Given the description of an element on the screen output the (x, y) to click on. 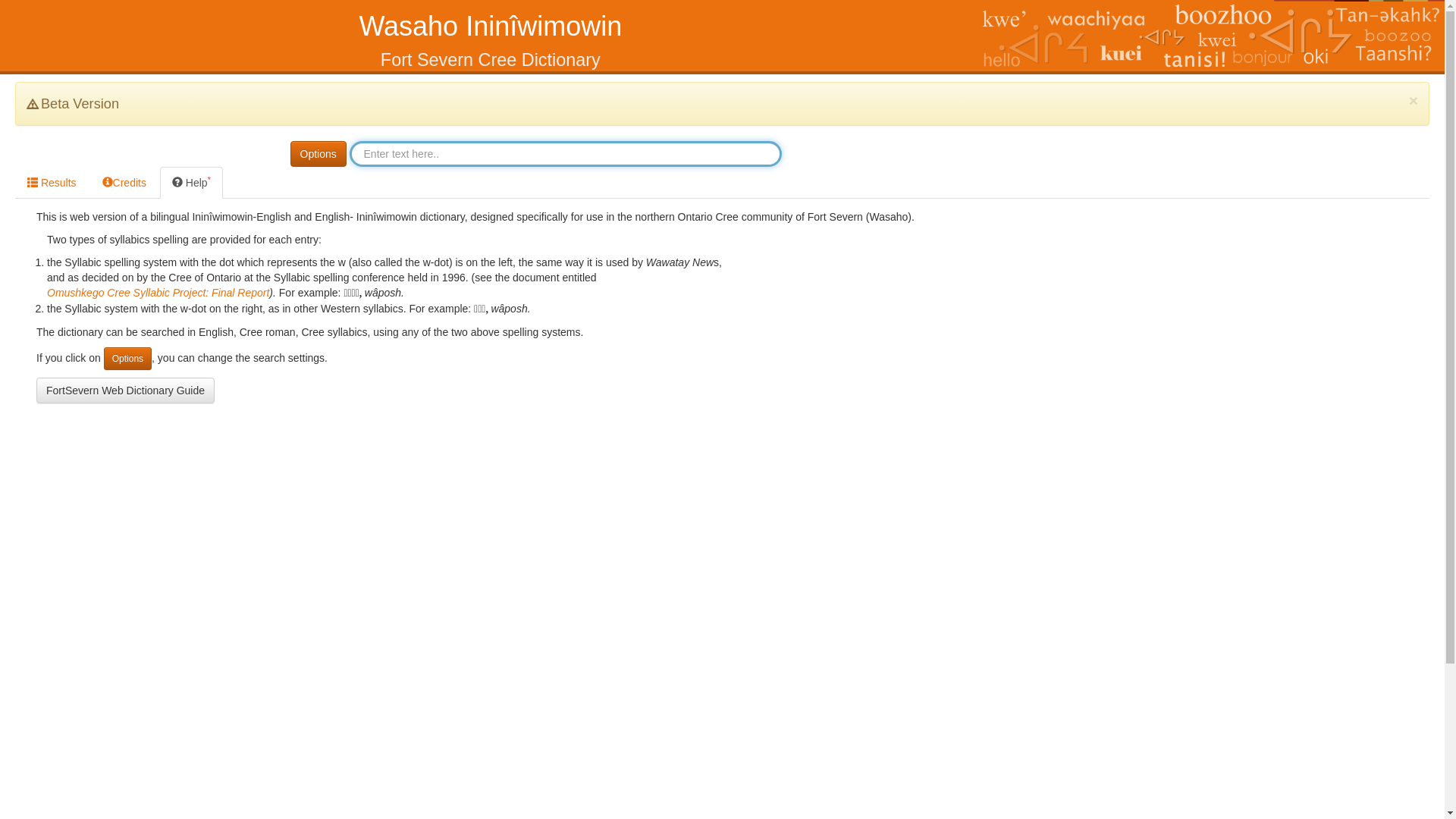
Options Element type: text (317, 153)
Results Element type: text (51, 182)
FortSevern Web Dictionary Guide Element type: text (125, 390)
Credits Element type: text (124, 182)
Omushkego Cree Syllabic Project: Final Report Element type: text (158, 292)
Help* Element type: text (191, 182)
